Given the description of an element on the screen output the (x, y) to click on. 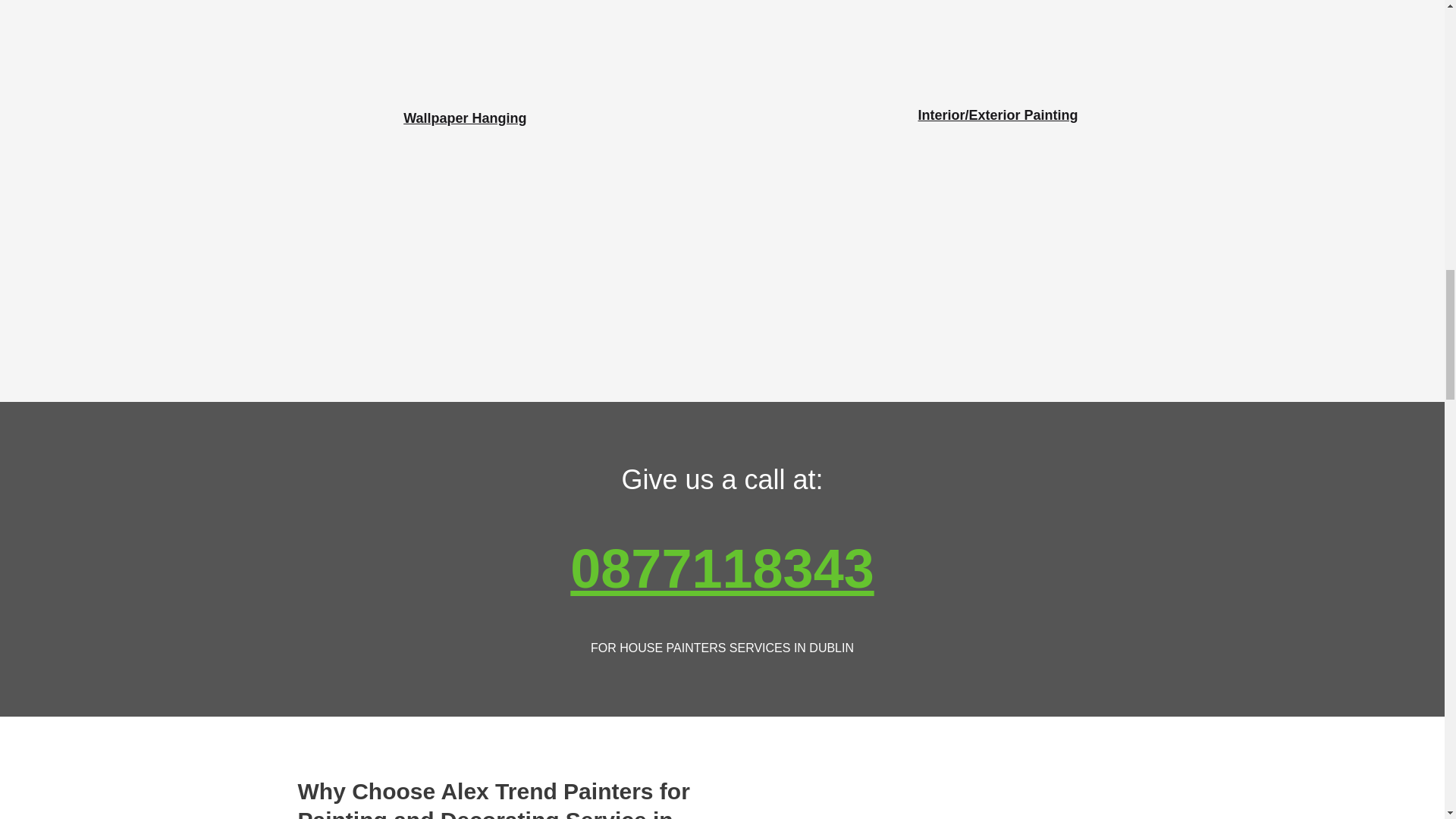
Painting and Decorating Corduff 9 (721, 103)
Painting and Decorating Corduff 7 (495, 65)
Painting and Decorating Corduff 11 (721, 290)
